Given the description of an element on the screen output the (x, y) to click on. 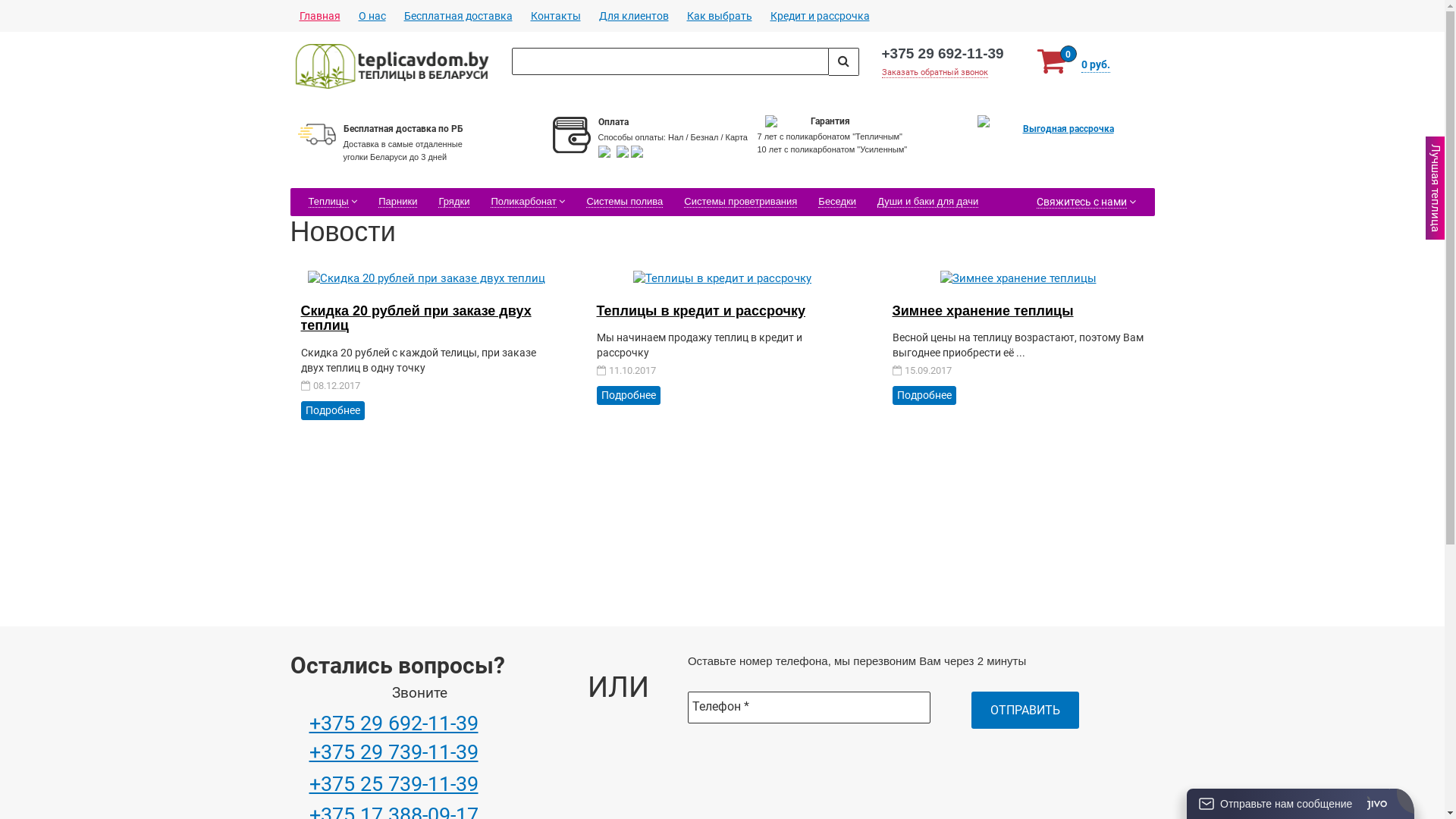
0 Element type: text (29, 14)
0 Element type: text (46, 14)
0 Element type: text (23, 14)
0 Element type: text (43, 14)
0 Element type: text (31, 14)
+375 29 692-11-39 Element type: text (393, 723)
+375 25 739-11-39 Element type: text (393, 783)
0 Element type: text (59, 14)
0 Element type: text (55, 14)
+375 29 739-11-39 Element type: text (393, 752)
